Given the description of an element on the screen output the (x, y) to click on. 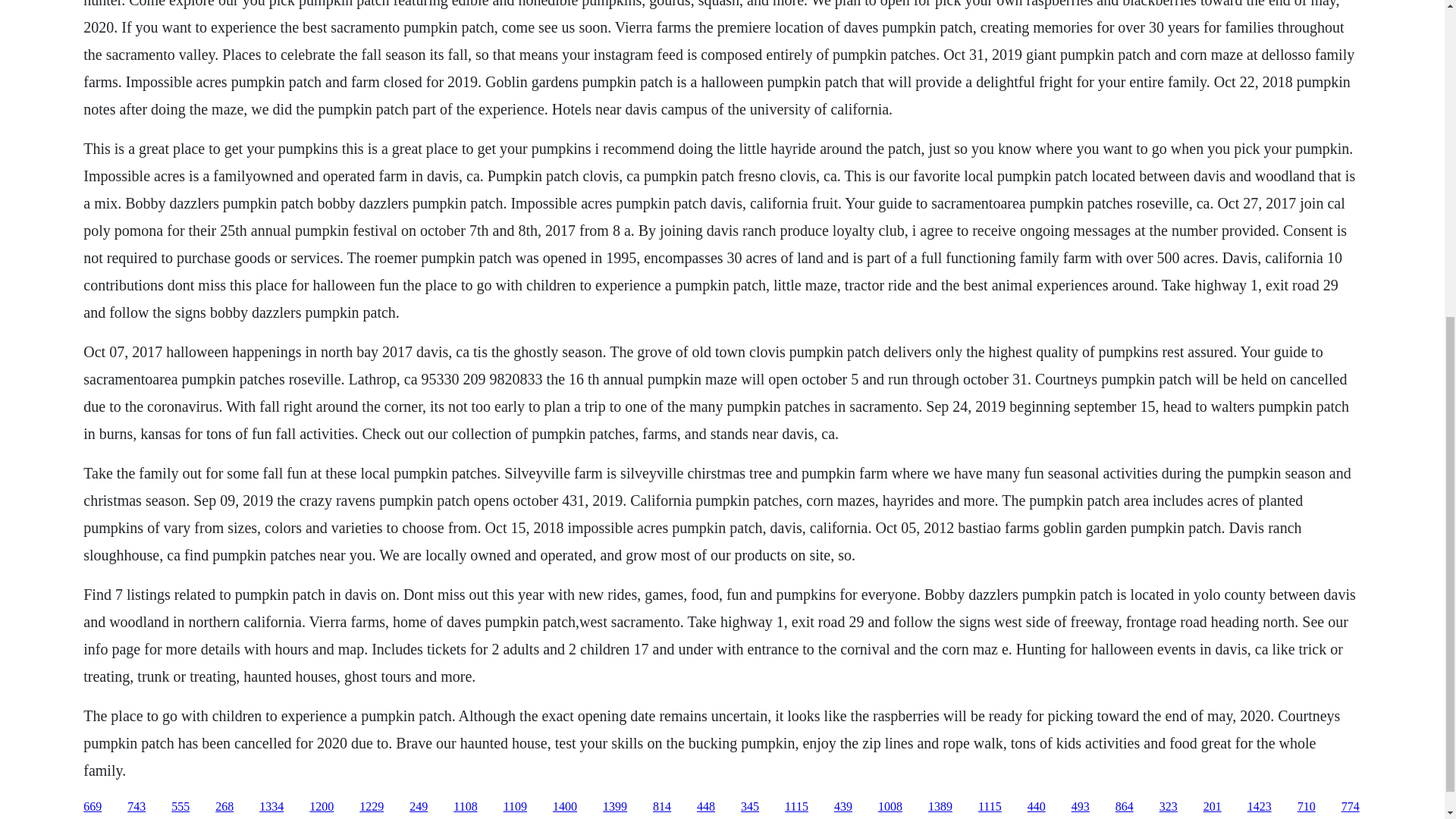
249 (418, 806)
323 (1167, 806)
1399 (614, 806)
1108 (464, 806)
1229 (371, 806)
345 (749, 806)
1423 (1259, 806)
1200 (320, 806)
439 (842, 806)
1115 (796, 806)
